Given the description of an element on the screen output the (x, y) to click on. 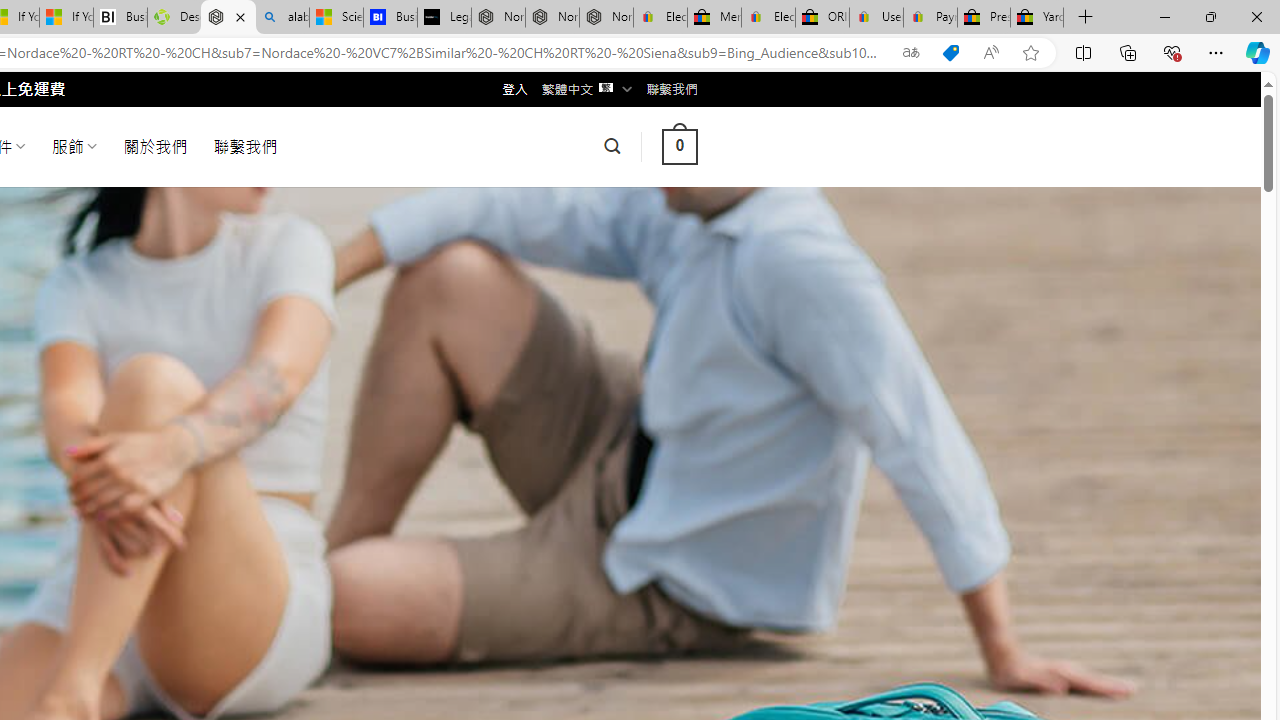
Press Room - eBay Inc. (983, 17)
Yard, Garden & Outdoor Living (1037, 17)
User Privacy Notice | eBay (875, 17)
Nordace - Summer Adventures 2024 (228, 17)
